Given the description of an element on the screen output the (x, y) to click on. 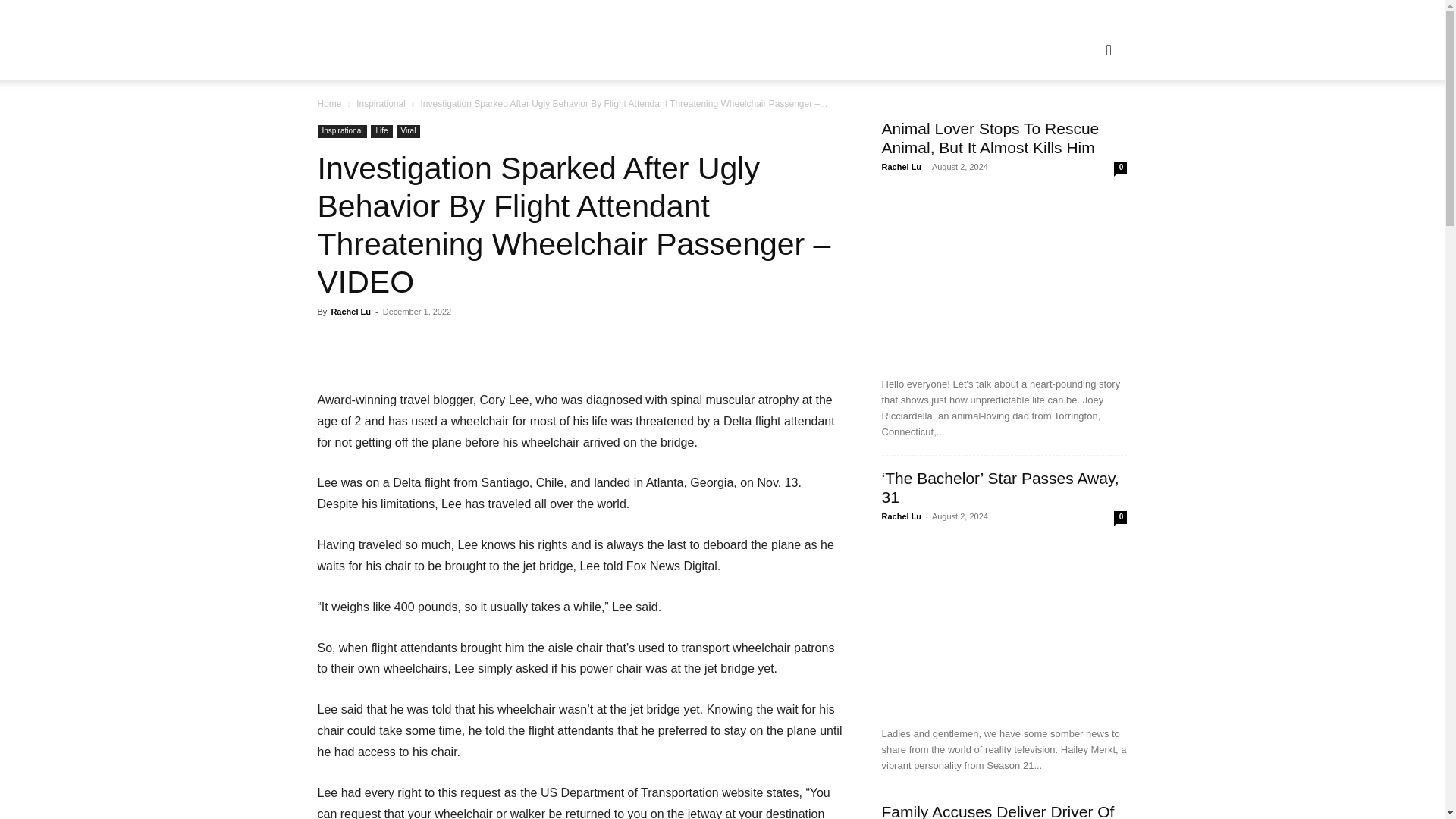
HOME (636, 50)
Home (328, 103)
Inspirational (381, 103)
Search (1085, 122)
View all posts in Inspirational (381, 103)
Rachel Lu (350, 311)
HUMOR (762, 50)
Life (381, 131)
INSPIRATIONAL (844, 50)
Read. Love. Share. (417, 39)
